Given the description of an element on the screen output the (x, y) to click on. 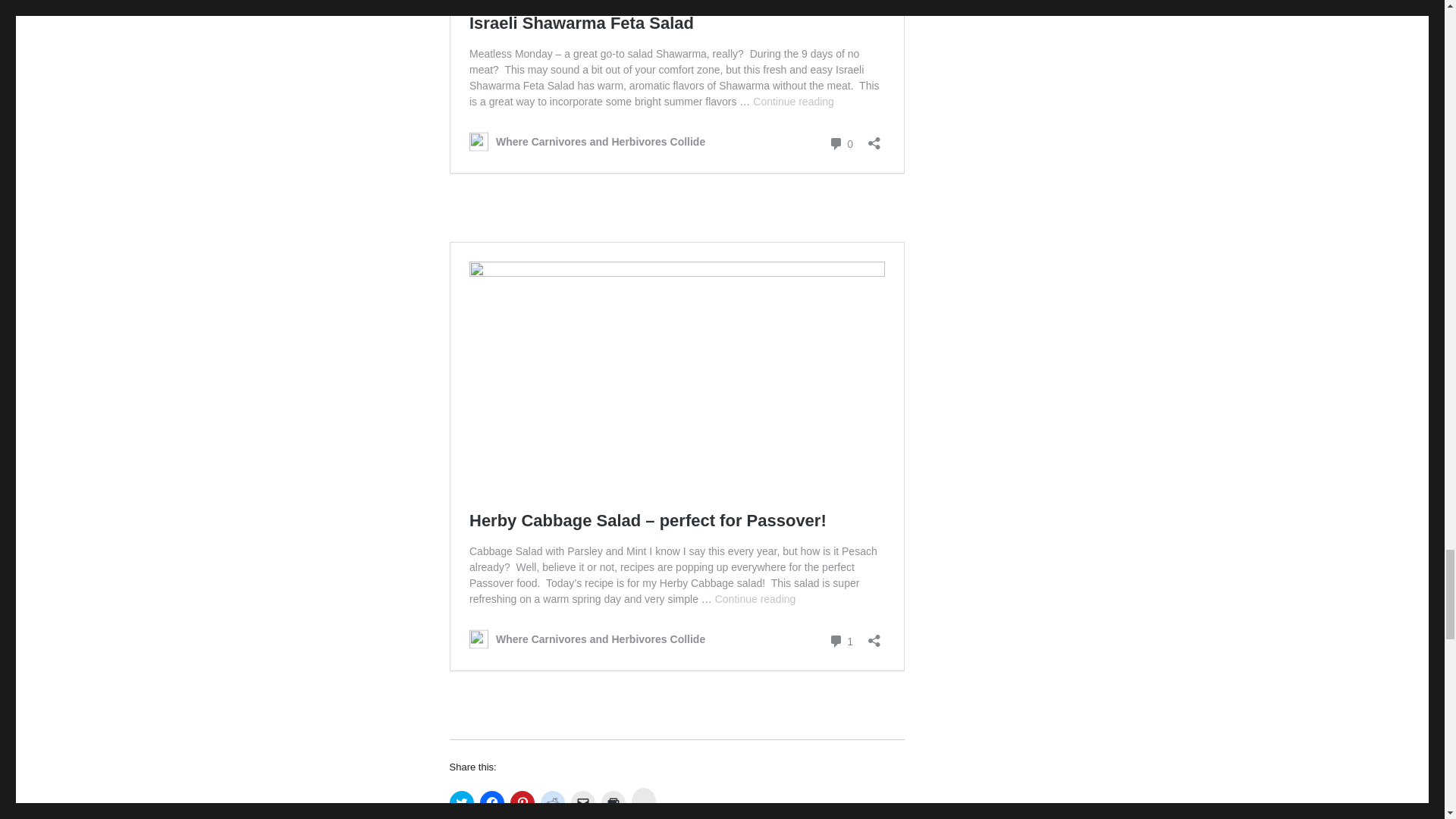
Click to share on Reddit (552, 802)
Click to email a link to a friend (582, 802)
Click to share on Facebook (491, 802)
Click to print (611, 802)
Click to share on Pinterest (521, 802)
Click to share on Twitter (460, 802)
